Given the description of an element on the screen output the (x, y) to click on. 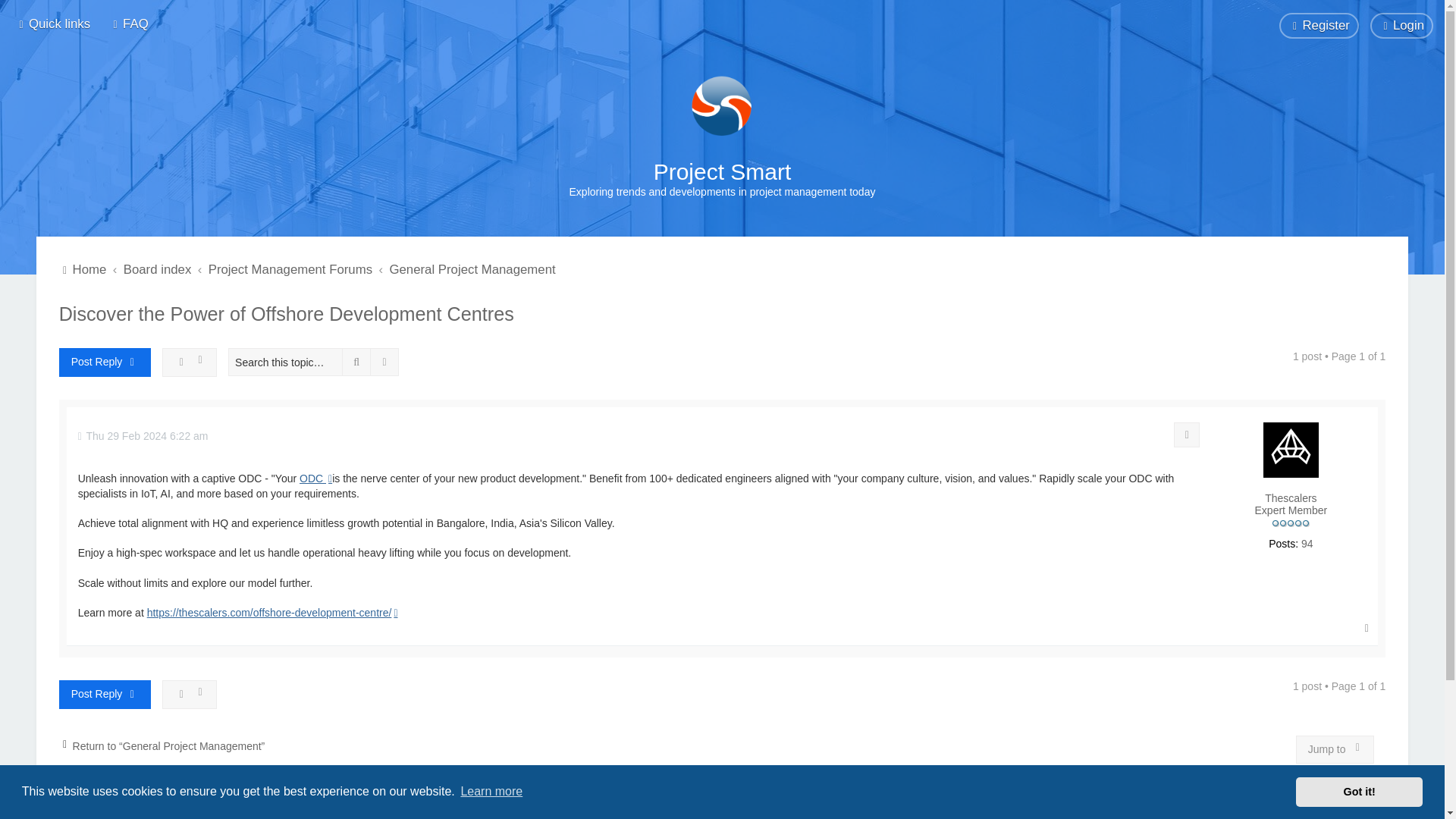
Got it! (1358, 791)
Post Reply (105, 694)
Quick links (52, 24)
Quote (1186, 434)
Thu 29 Feb 2024 6:22 am (143, 436)
Project Management Forums (290, 269)
Home (721, 106)
General Project Management (471, 269)
Post a reply (105, 362)
Search (356, 361)
Register (1318, 25)
ODC (315, 478)
Topic tools (188, 362)
Login (1401, 25)
Advanced search (384, 361)
